Given the description of an element on the screen output the (x, y) to click on. 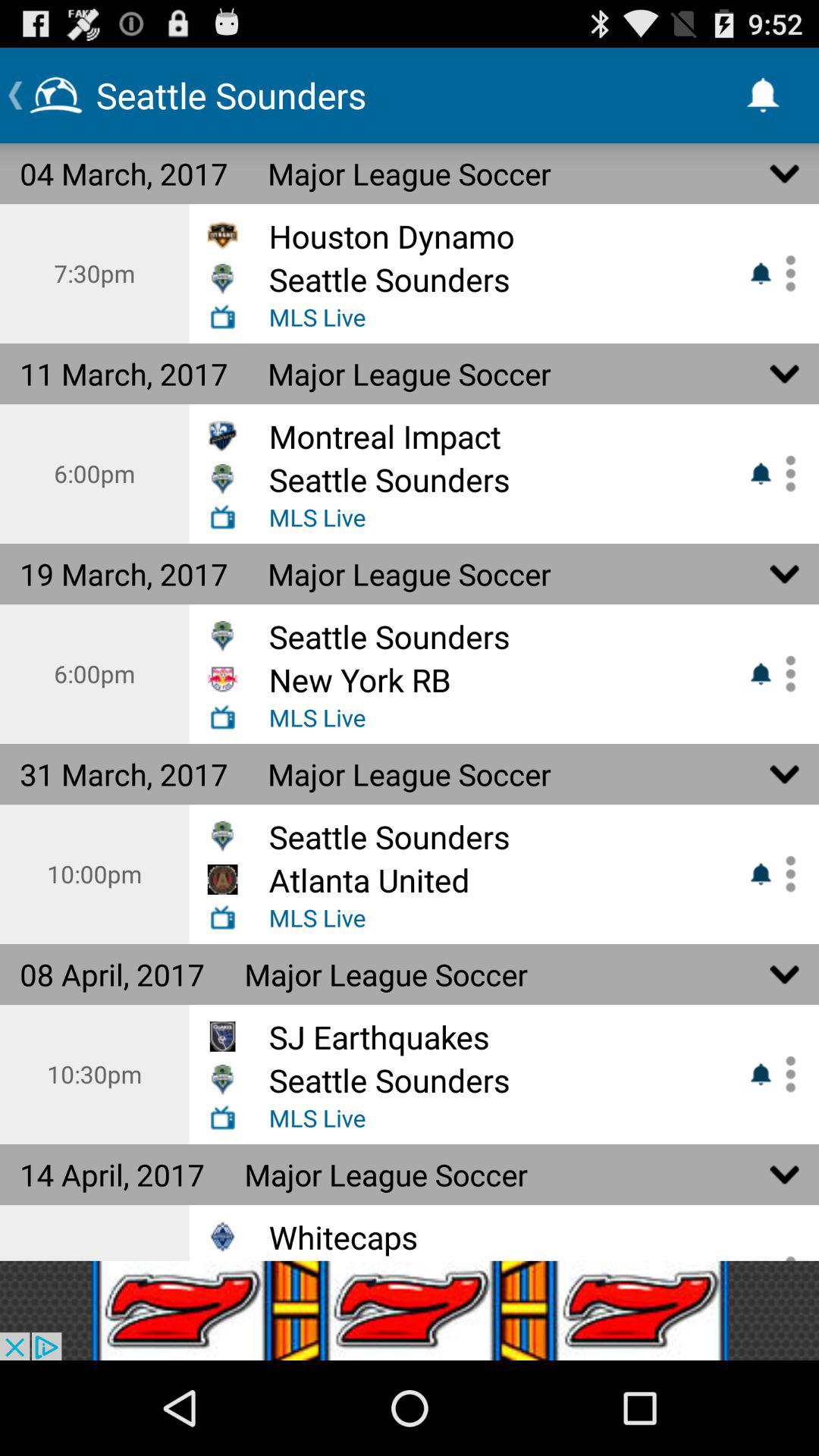
show more detials (785, 473)
